Given the description of an element on the screen output the (x, y) to click on. 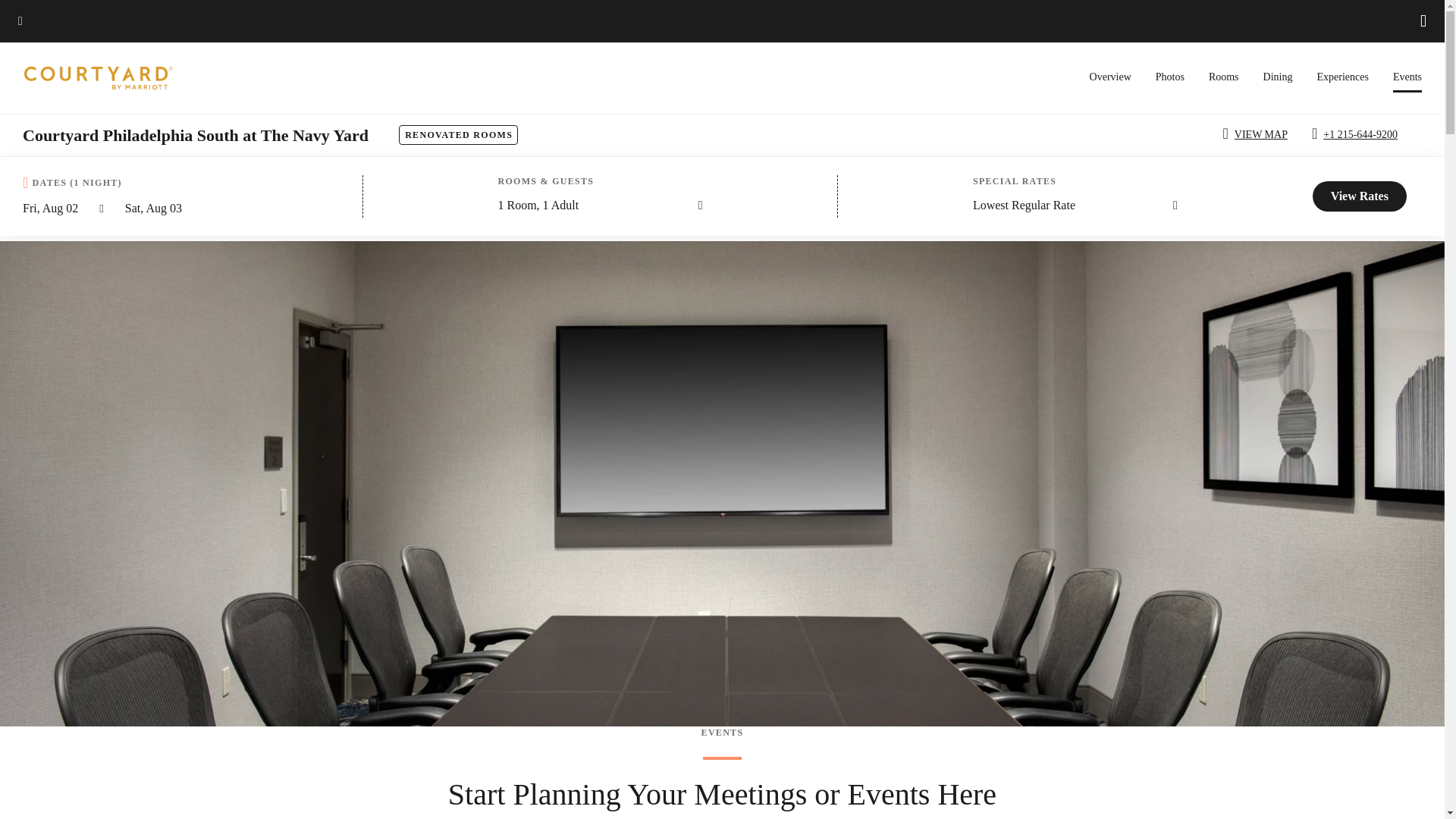
Rooms (1223, 76)
Dining (1277, 76)
Photos (1170, 76)
Events (1407, 81)
Overview (1110, 76)
VIEW MAP (1257, 134)
Experiences (1342, 76)
